Given the description of an element on the screen output the (x, y) to click on. 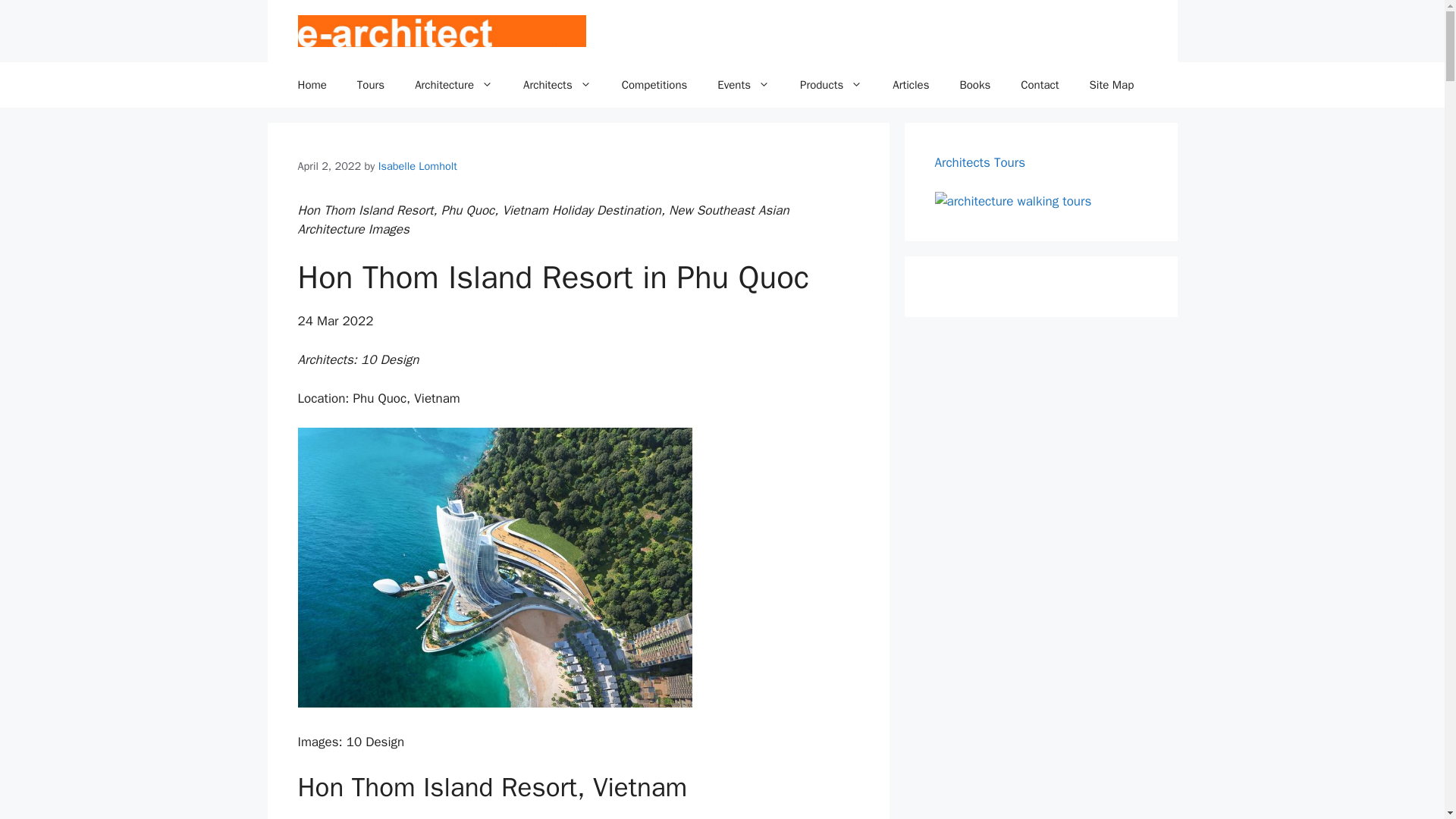
Isabelle Lomholt (417, 165)
Home (311, 84)
Books (974, 84)
Products (830, 84)
Events (742, 84)
Contact (1040, 84)
Articles (910, 84)
Site Map (1112, 84)
Architecture (453, 84)
Competitions (655, 84)
